Given the description of an element on the screen output the (x, y) to click on. 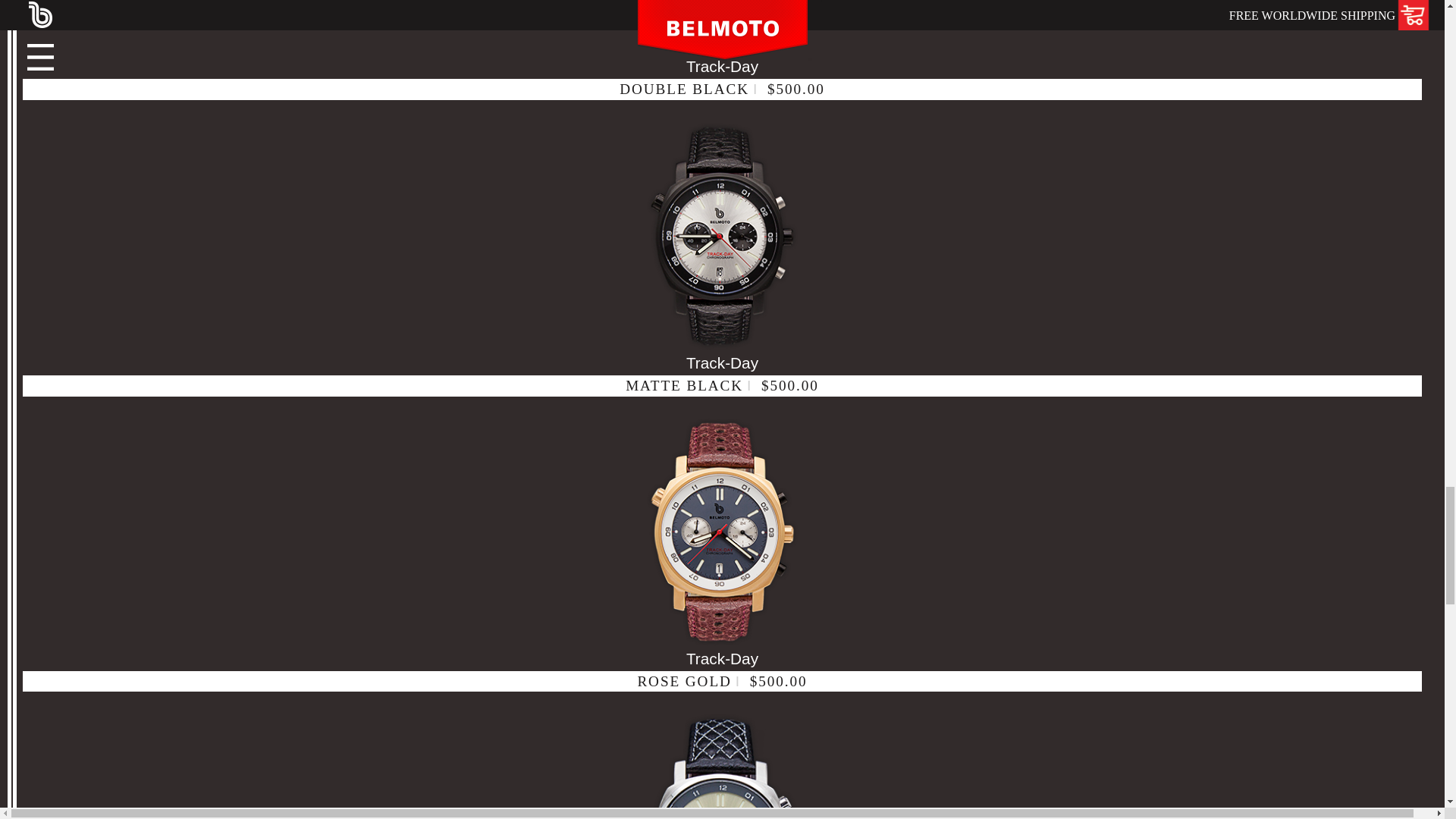
Double Black (721, 28)
